Given the description of an element on the screen output the (x, y) to click on. 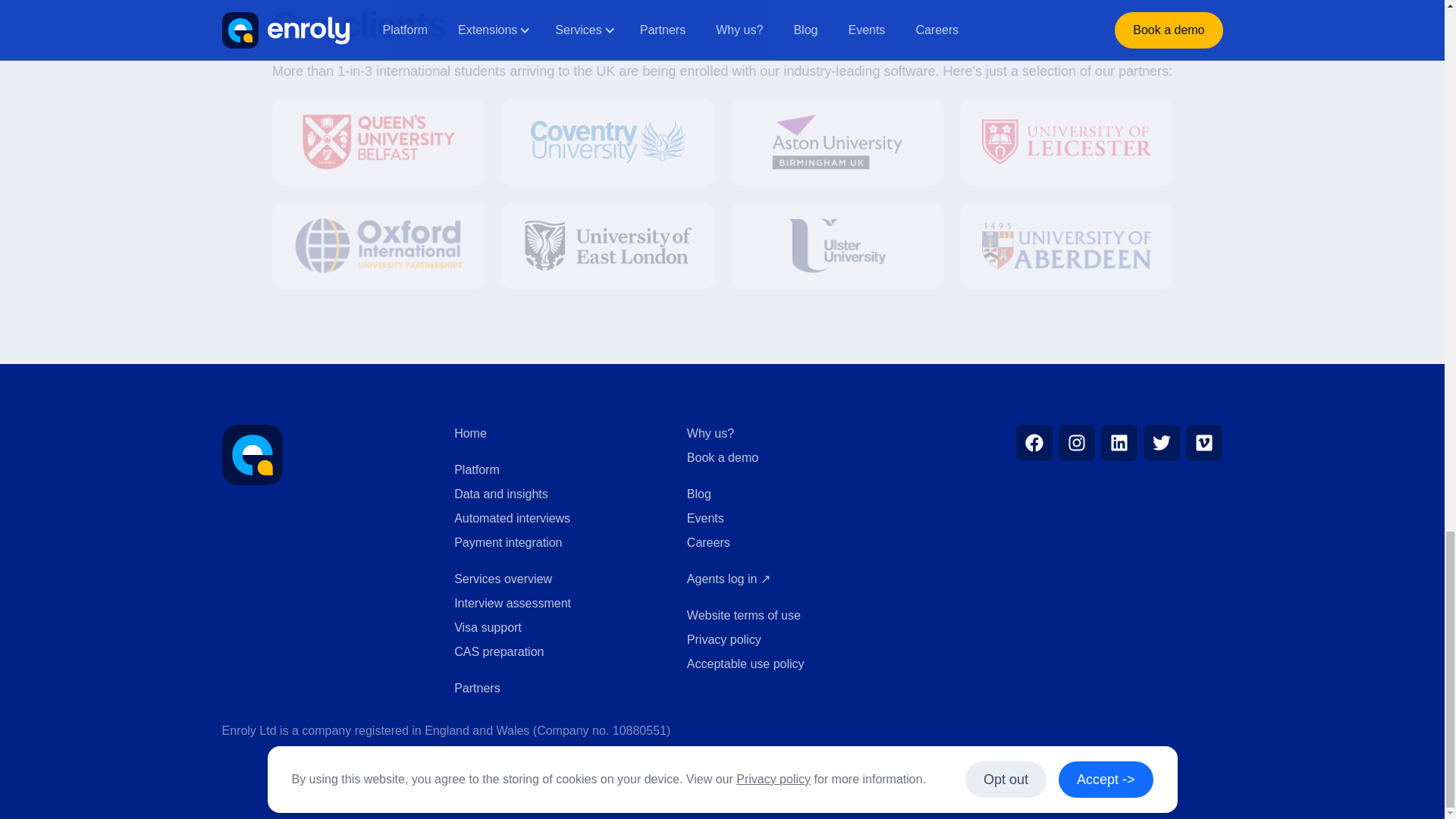
Interview assessment (555, 603)
Services overview (555, 579)
CAS preparation (555, 651)
Visa support (555, 628)
Data and insights (555, 494)
Platform (555, 470)
Automated interviews (555, 518)
Home (555, 434)
Payment integration (555, 542)
